Given the description of an element on the screen output the (x, y) to click on. 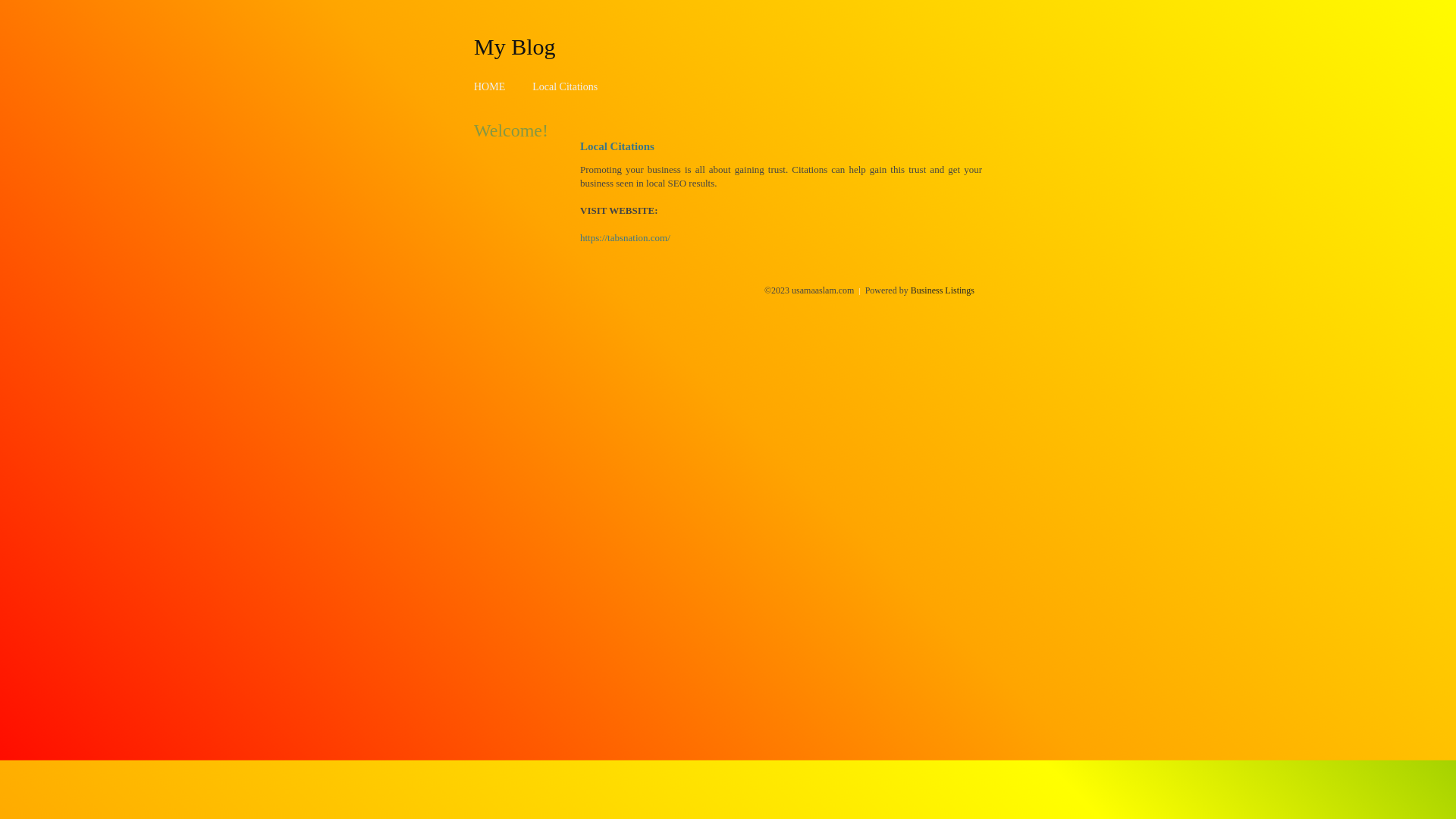
My Blog Element type: text (514, 46)
Local Citations Element type: text (564, 86)
Business Listings Element type: text (942, 290)
https://tabsnation.com/ Element type: text (625, 237)
HOME Element type: text (489, 86)
